Given the description of an element on the screen output the (x, y) to click on. 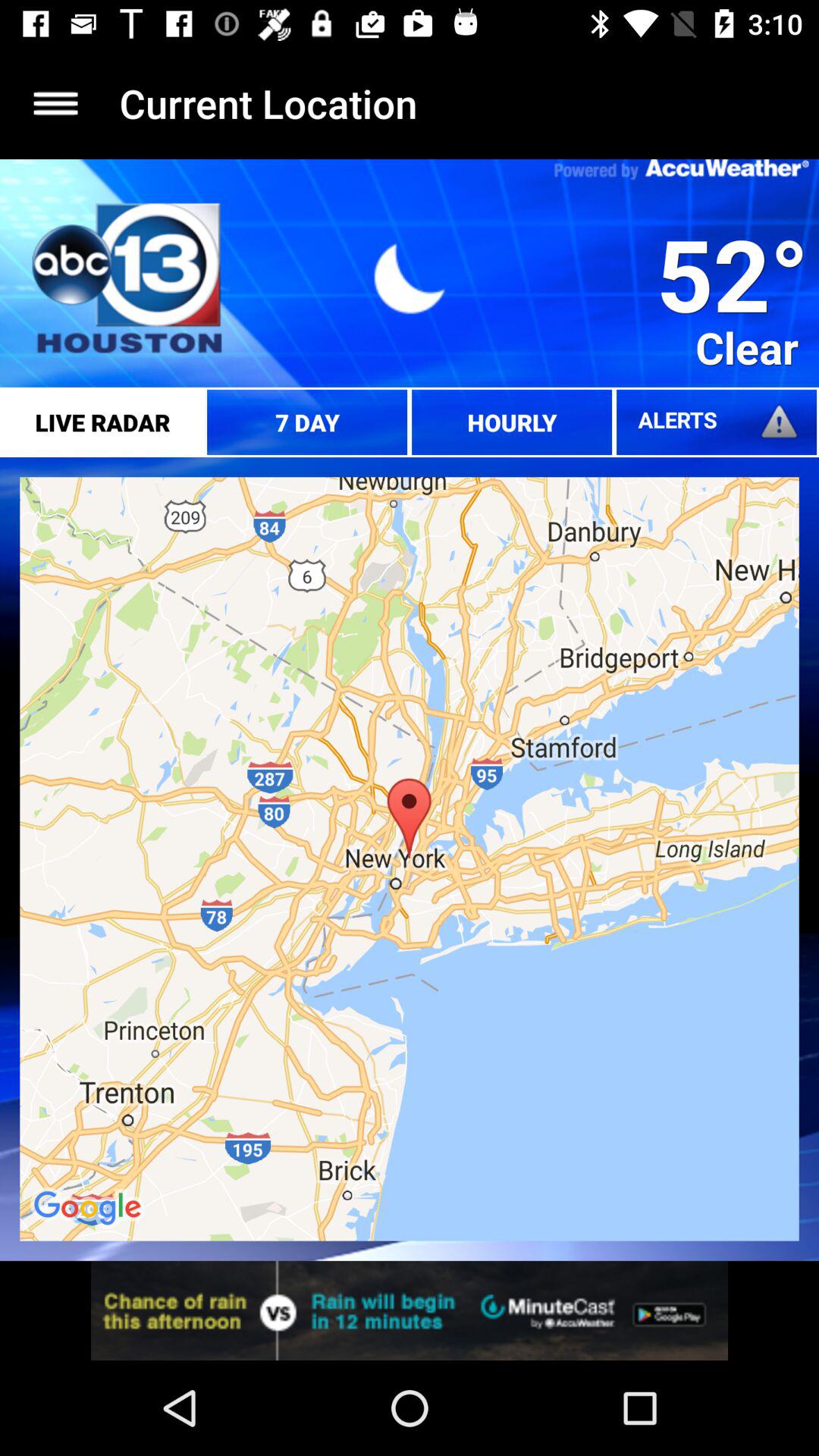
settings (55, 103)
